Given the description of an element on the screen output the (x, y) to click on. 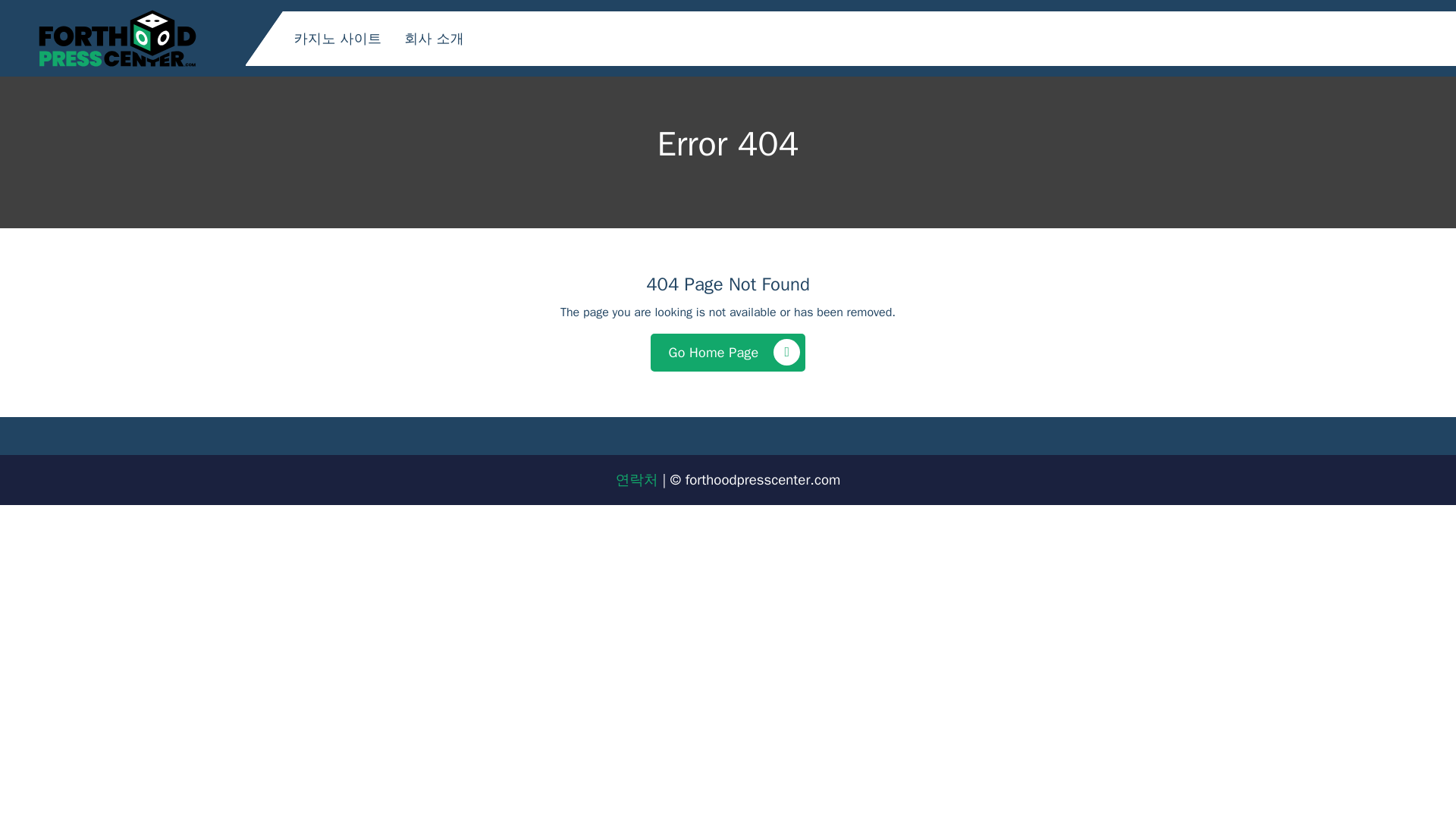
Go Home Page (728, 352)
